Given the description of an element on the screen output the (x, y) to click on. 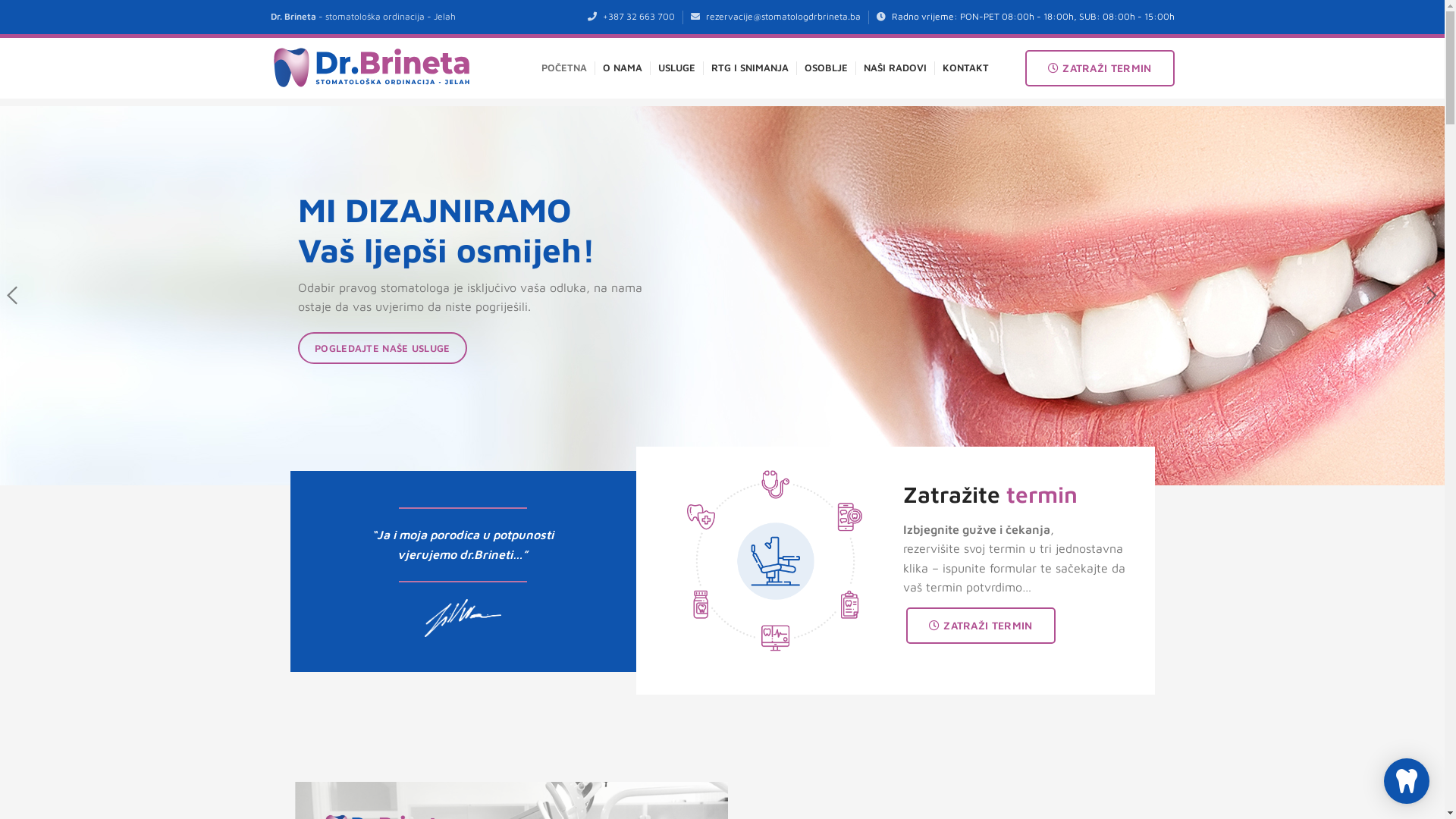
O NAMA Element type: text (622, 68)
+387 32 663 700 Element type: text (638, 15)
RTG I SNIMANJA Element type: text (749, 68)
O NAMA Element type: text (590, 619)
USLUGE Element type: text (590, 645)
OSOBLJE Element type: text (826, 68)
rezervacije@stomatologdrbrineta.ba Element type: text (782, 15)
KONTAKT Element type: text (590, 722)
GALERIJA Element type: text (590, 696)
KONTAKT Element type: text (965, 68)
 Stomatolog Brineta Element type: text (414, 759)
USLUGE Element type: text (676, 68)
